Given the description of an element on the screen output the (x, y) to click on. 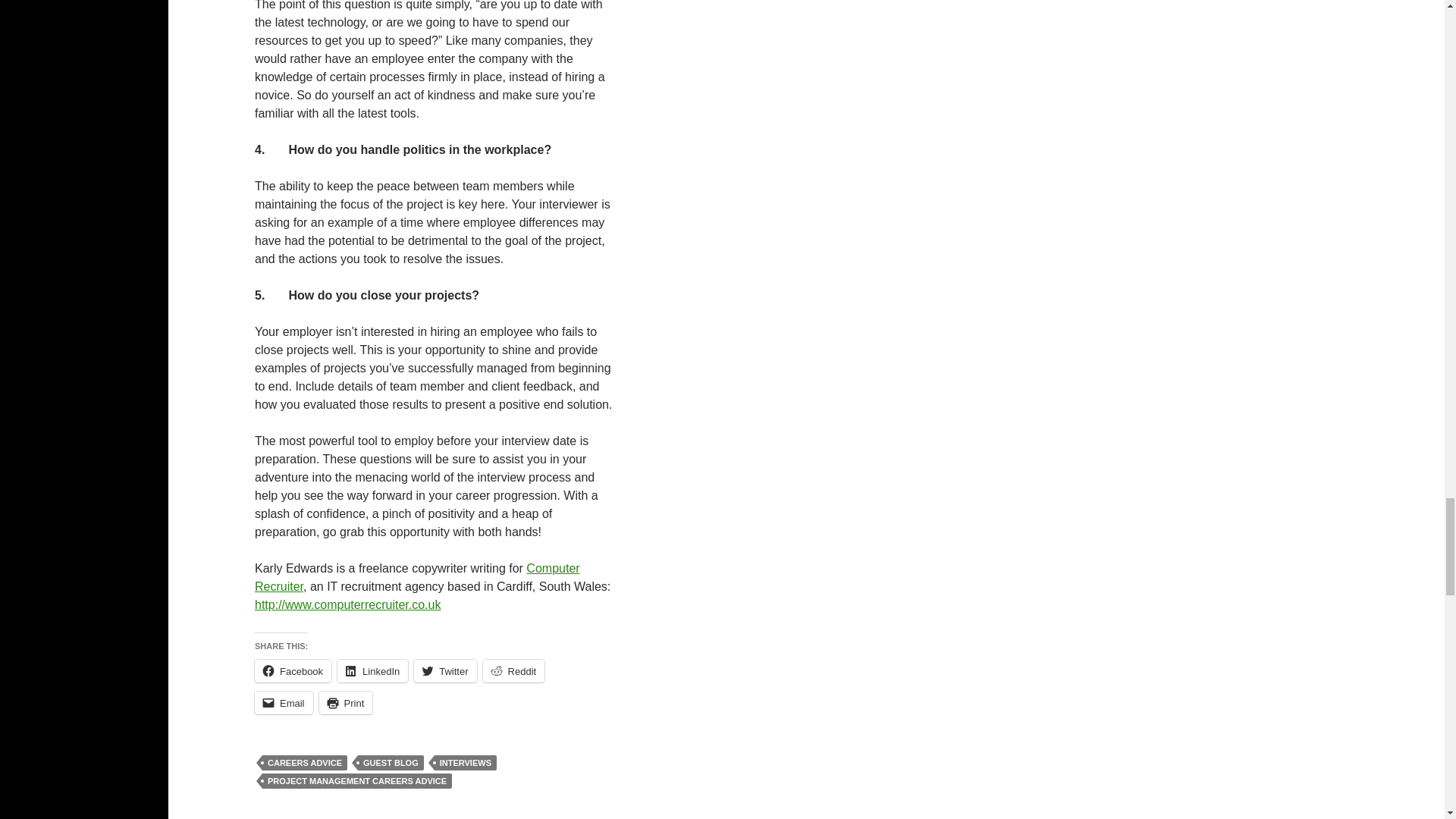
Click to share on Reddit (513, 671)
Click to share on Facebook (292, 671)
Click to share on Twitter (444, 671)
Click to share on LinkedIn (372, 671)
